Given the description of an element on the screen output the (x, y) to click on. 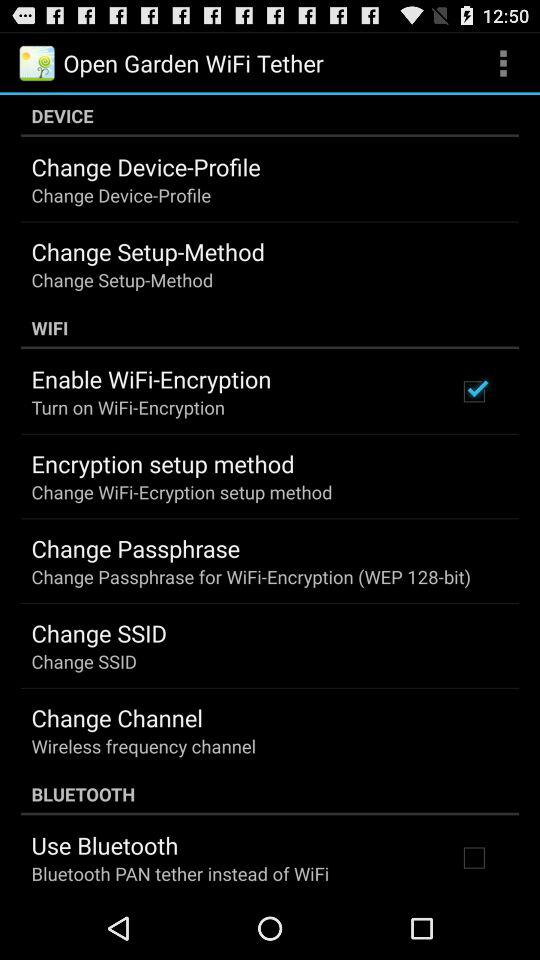
open the change channel item (116, 717)
